Given the description of an element on the screen output the (x, y) to click on. 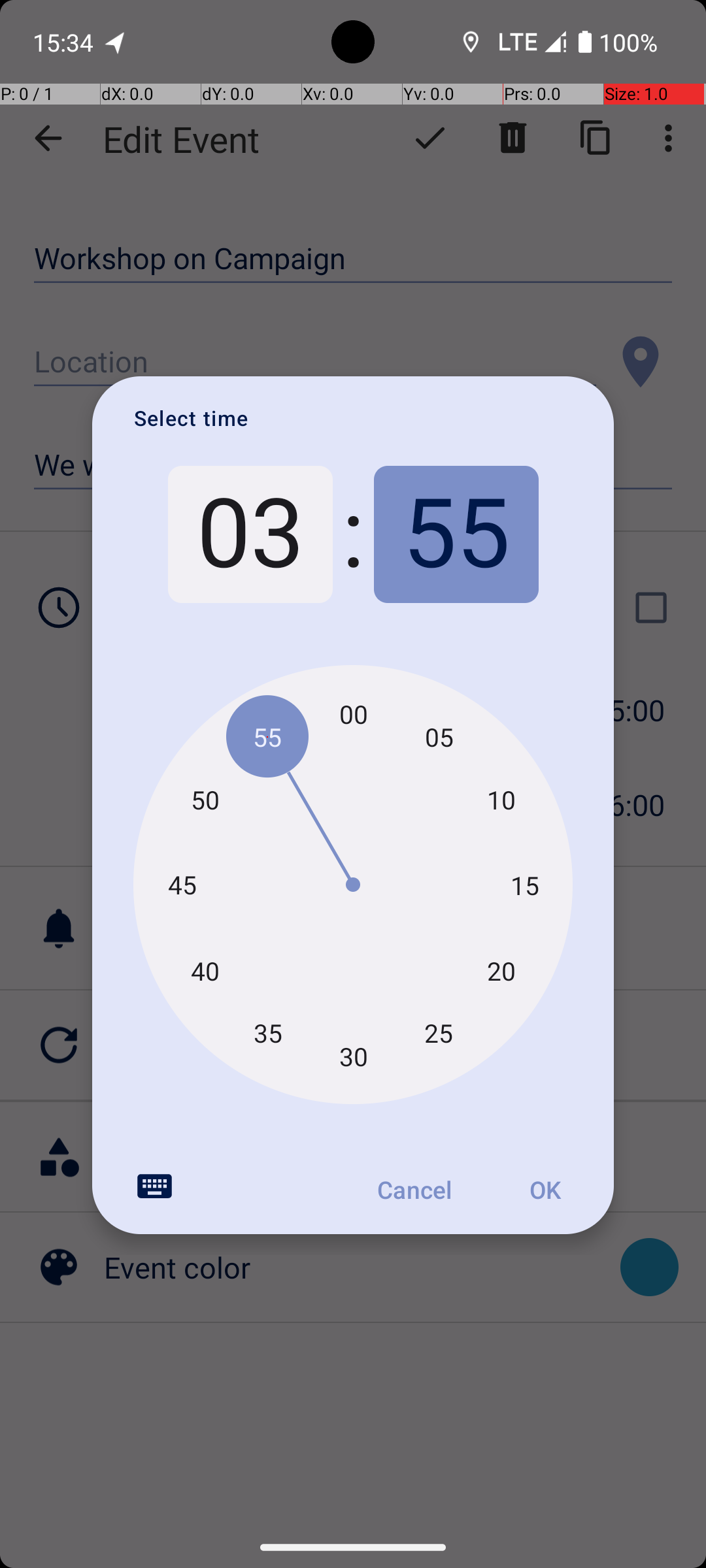
03 Element type: android.view.View (250, 534)
